Given the description of an element on the screen output the (x, y) to click on. 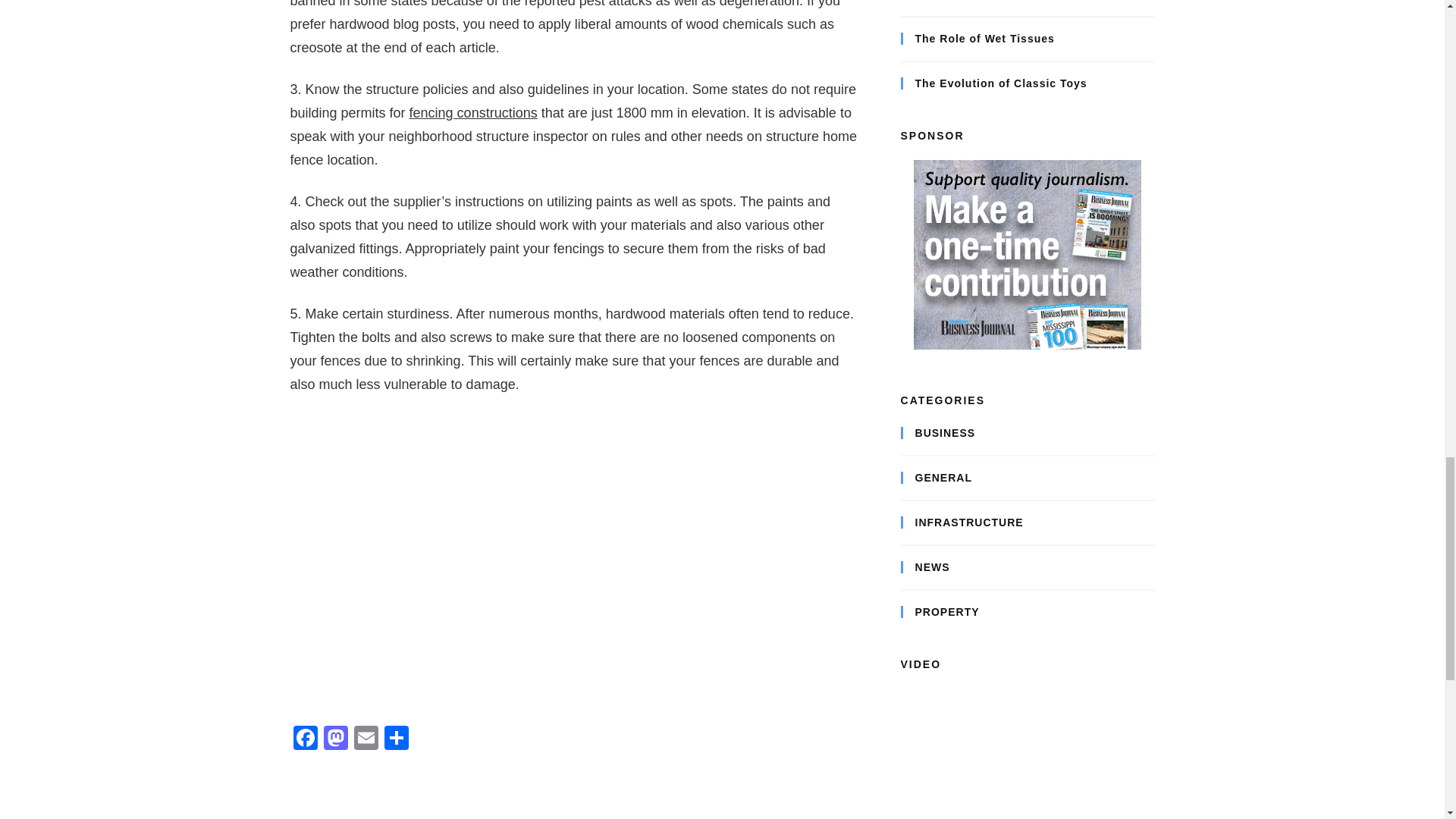
Email (365, 739)
Mastodon (335, 739)
Facebook (304, 739)
